Given the description of an element on the screen output the (x, y) to click on. 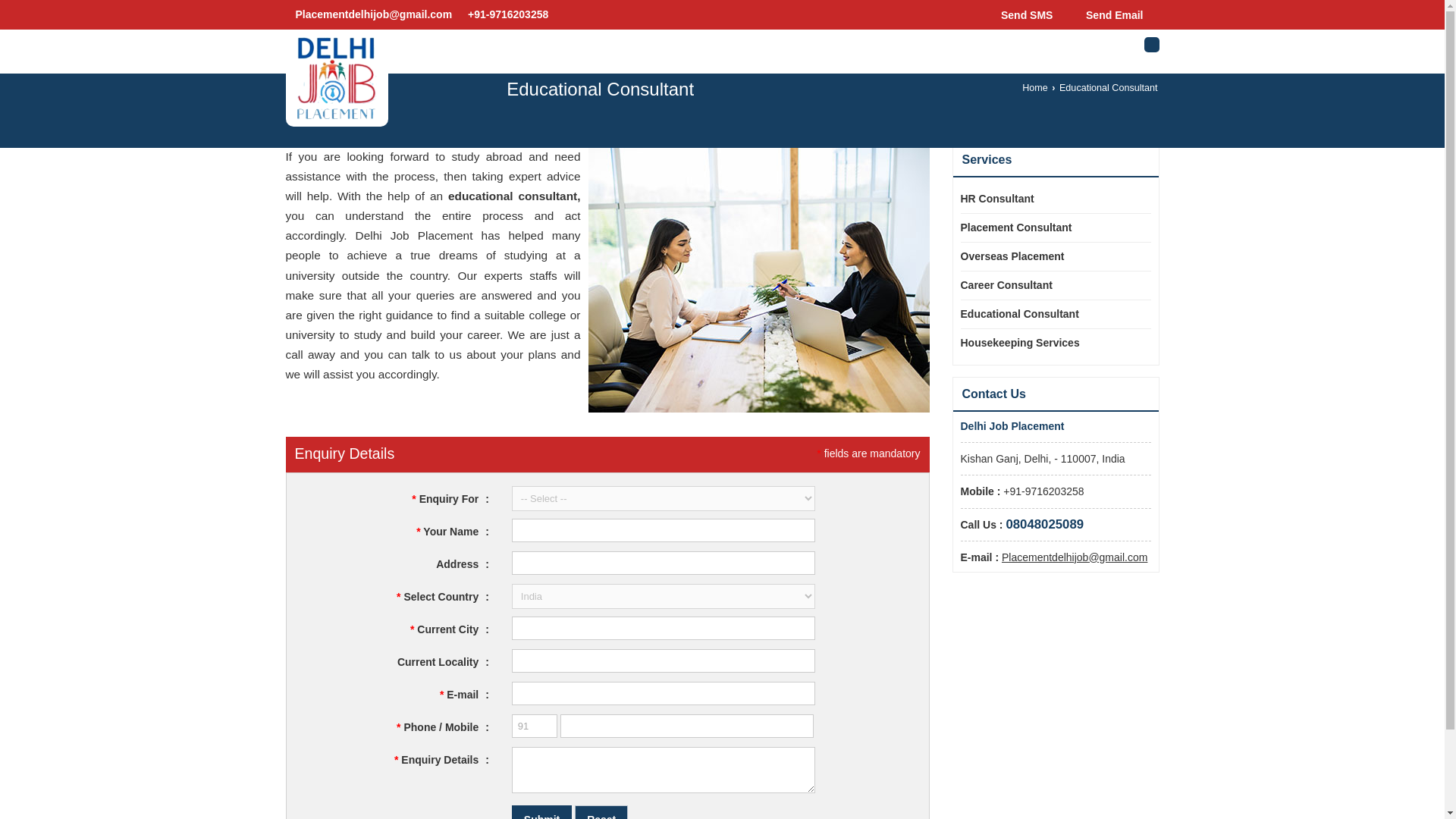
Search (1150, 44)
Send SMS (1022, 14)
91 (534, 725)
Educational Consultant (1048, 314)
Overseas Placement (1048, 256)
Housekeeping Services (1048, 342)
Send Email (1110, 14)
Home (1035, 87)
Submit (542, 812)
Placement Consultant (1048, 227)
Career Consultant (1048, 285)
Submit (542, 812)
Delhi Job Placement (337, 77)
HR Consultant (1048, 198)
Reset (601, 812)
